Given the description of an element on the screen output the (x, y) to click on. 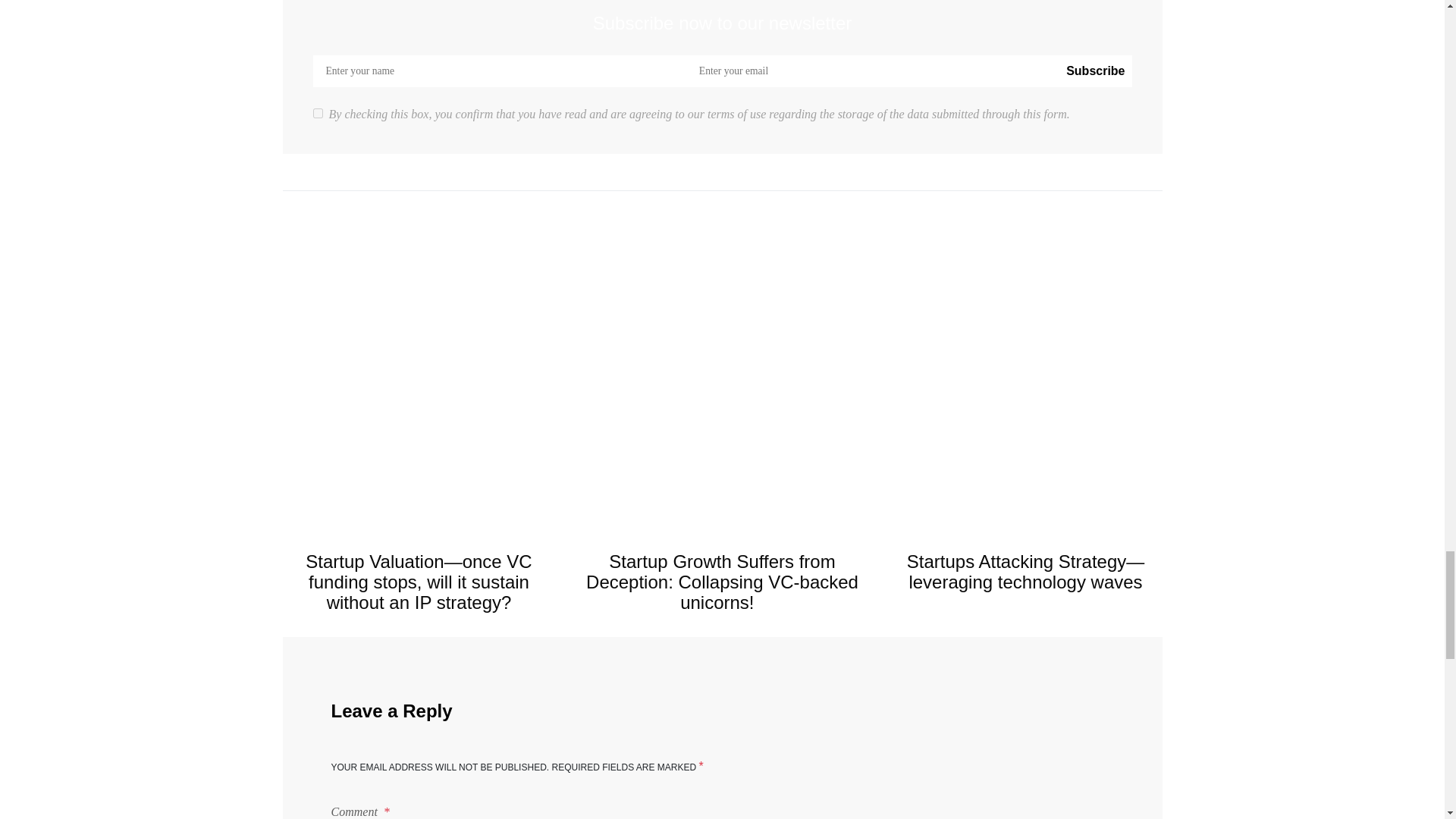
on (317, 112)
